Given the description of an element on the screen output the (x, y) to click on. 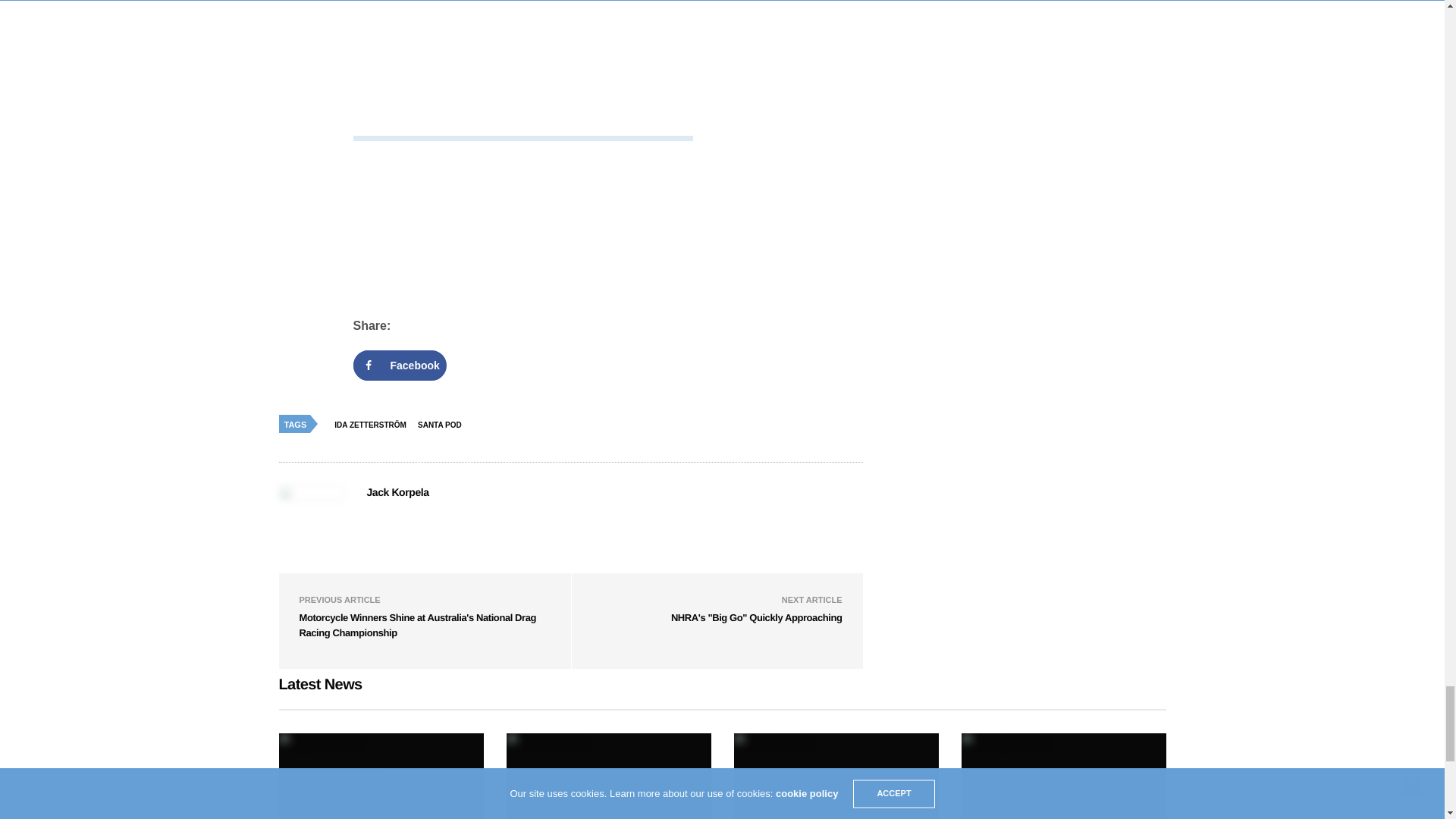
NHRA's  (757, 617)
Share on Facebook (399, 365)
